Given the description of an element on the screen output the (x, y) to click on. 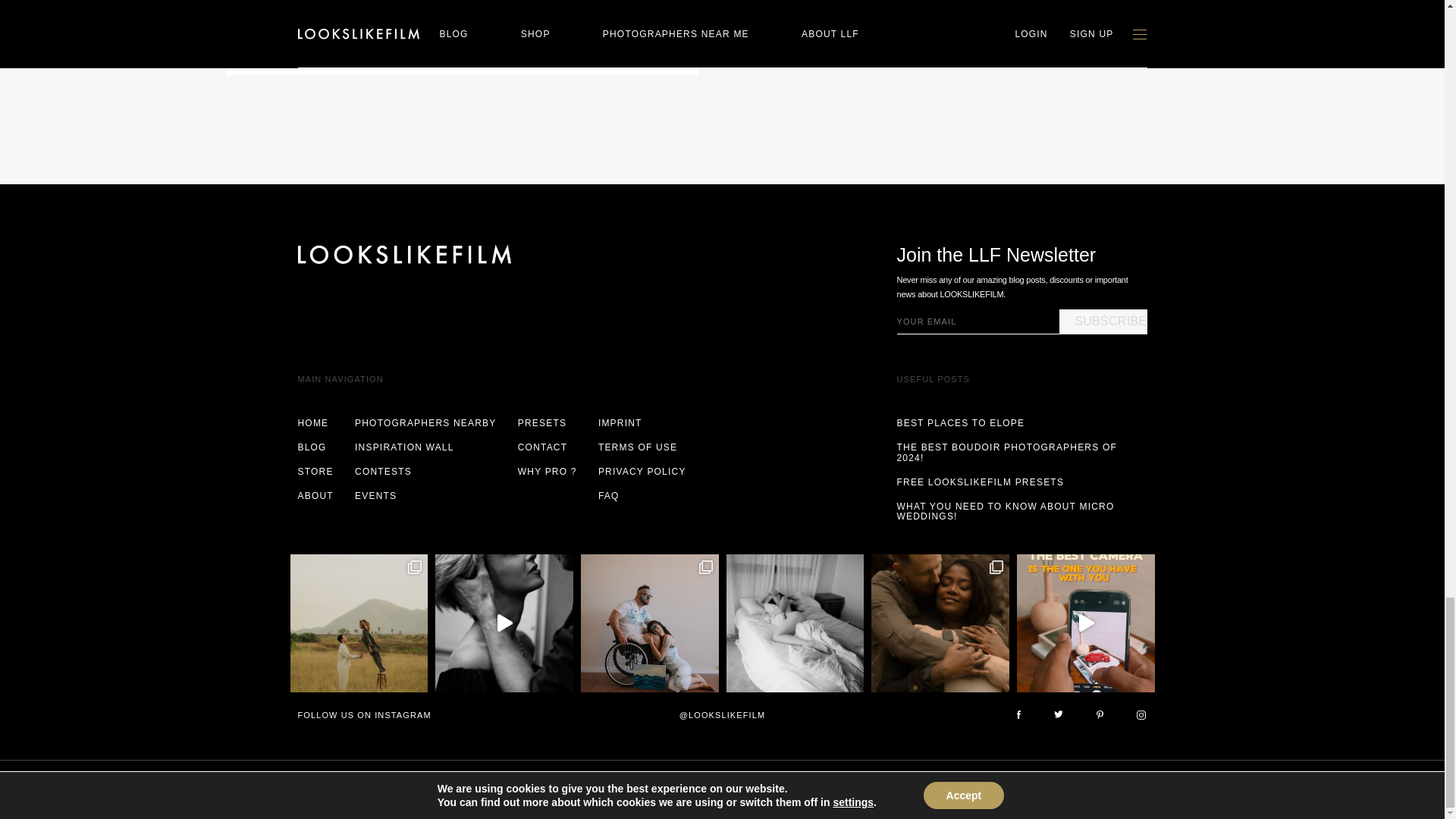
Subscribe (1103, 321)
VIEW FULL PROFILE (355, 29)
